Given the description of an element on the screen output the (x, y) to click on. 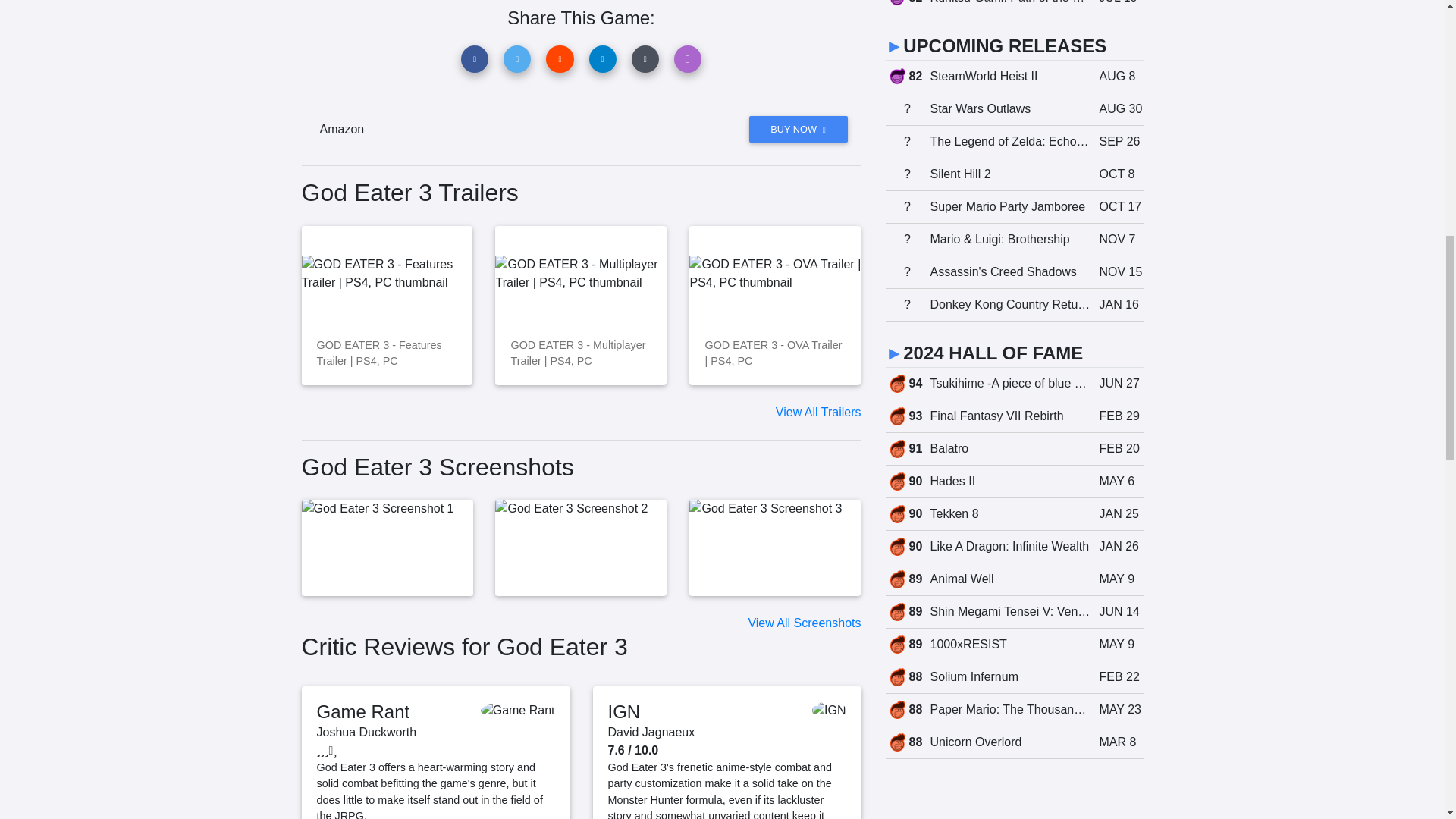
View All Trailers (818, 411)
Joshua Duckworth (366, 731)
BUY NOW (798, 129)
IGN (624, 711)
Game Rant (363, 711)
View All Screenshots (804, 622)
